Given the description of an element on the screen output the (x, y) to click on. 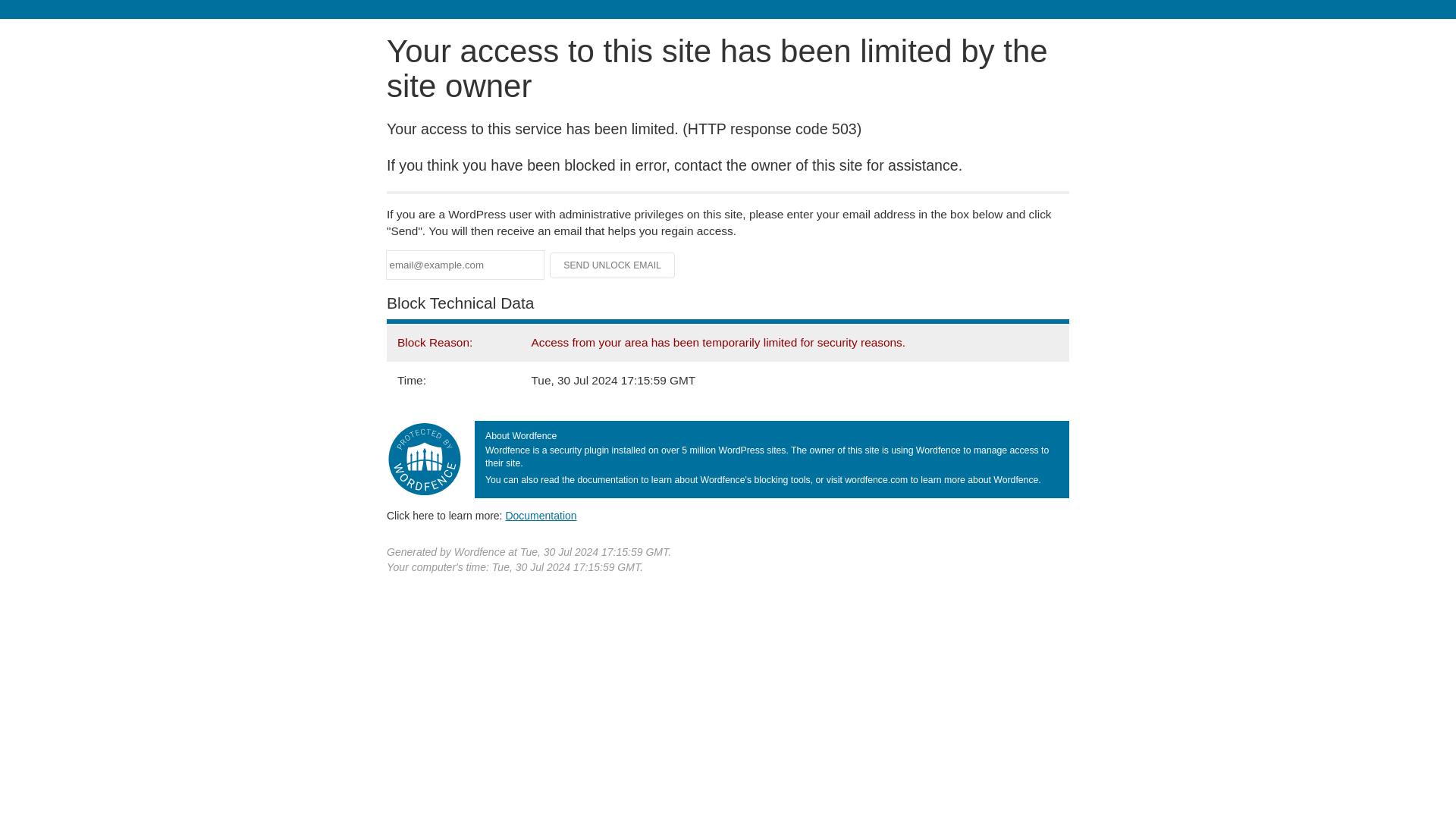
Send Unlock Email (612, 265)
Documentation (540, 515)
Send Unlock Email (612, 265)
